Given the description of an element on the screen output the (x, y) to click on. 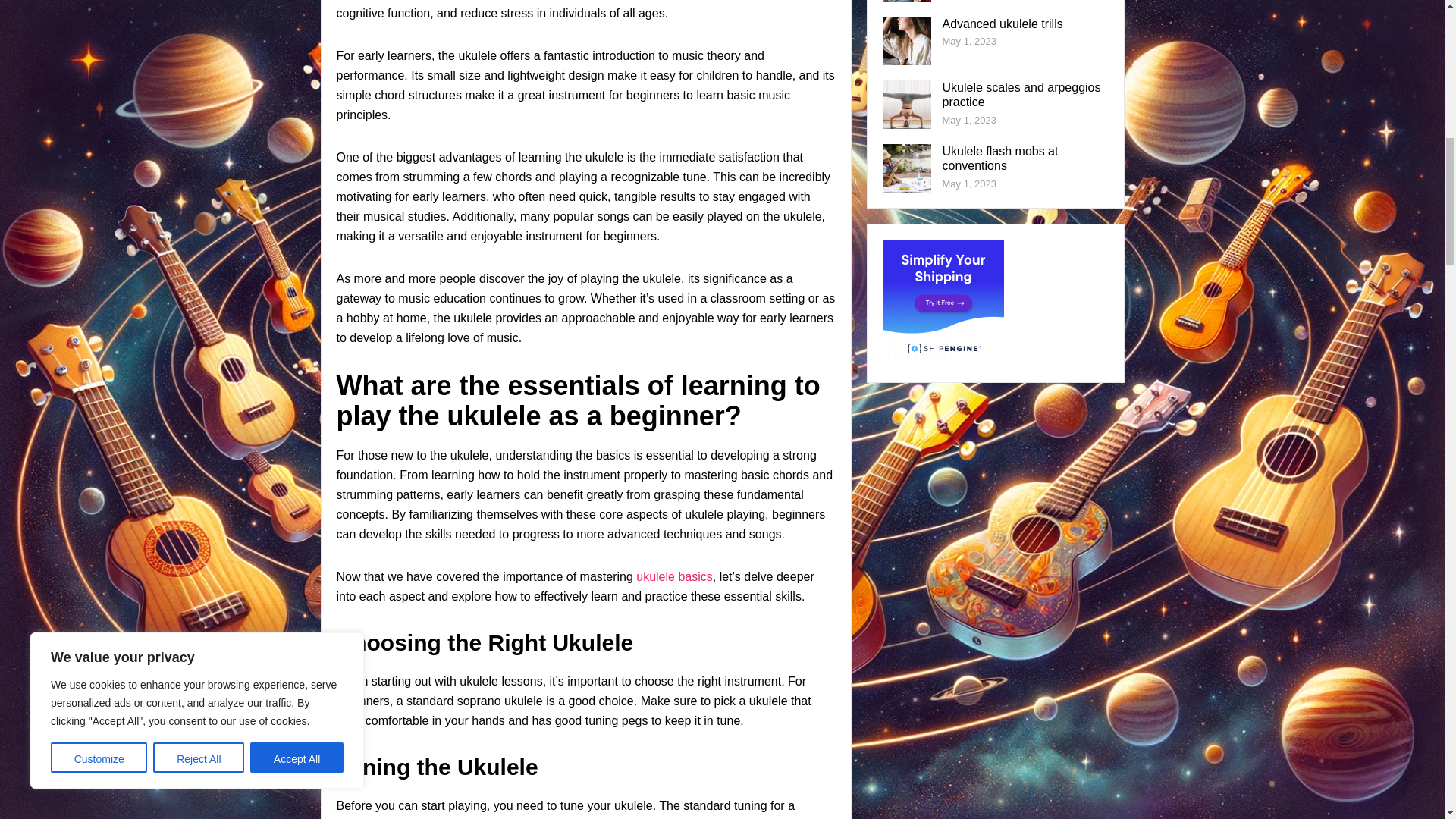
ukulele basics (674, 576)
